Given the description of an element on the screen output the (x, y) to click on. 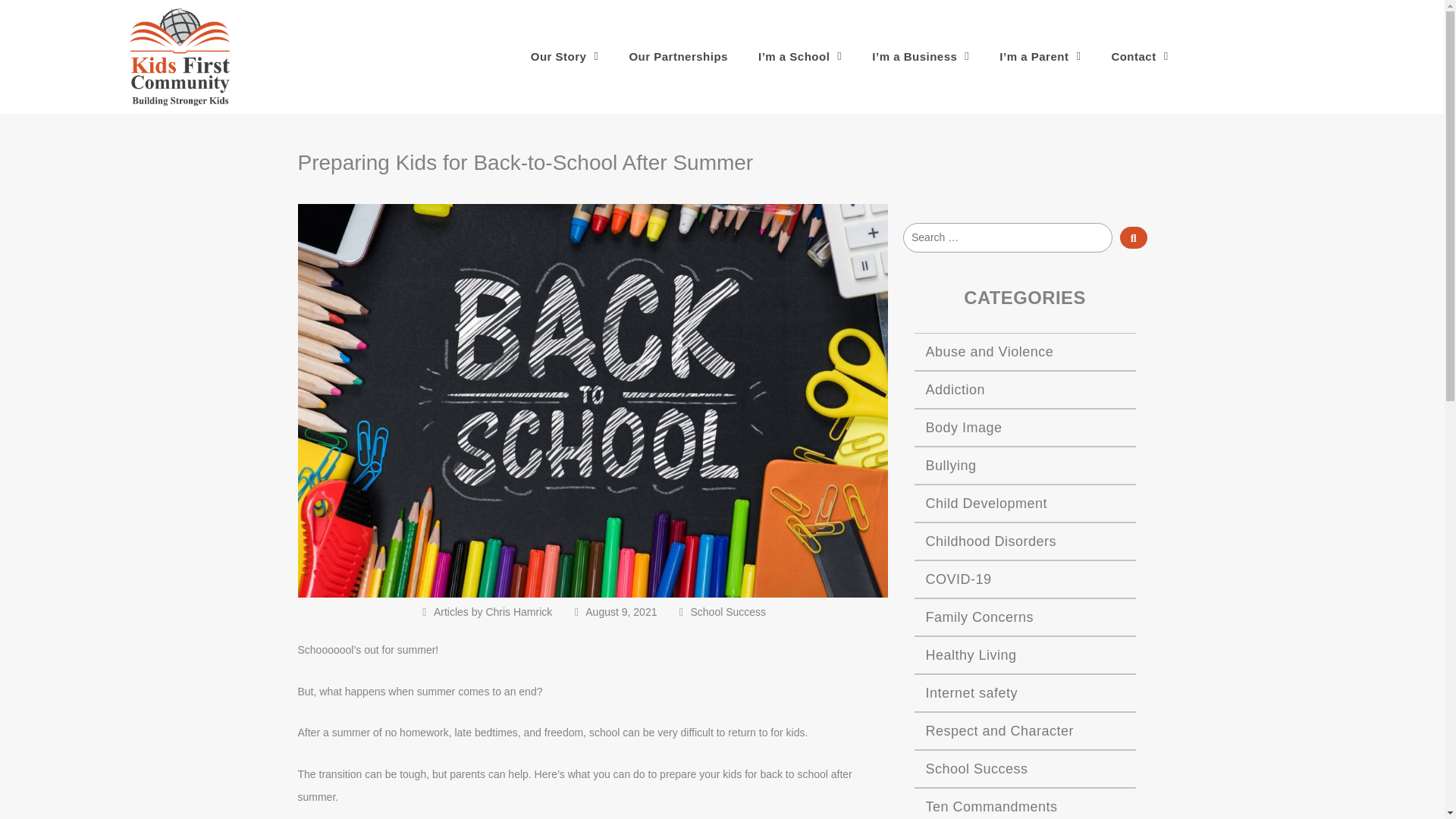
Our Partnerships (677, 56)
Contact (1139, 56)
Our Story (564, 56)
